Given the description of an element on the screen output the (x, y) to click on. 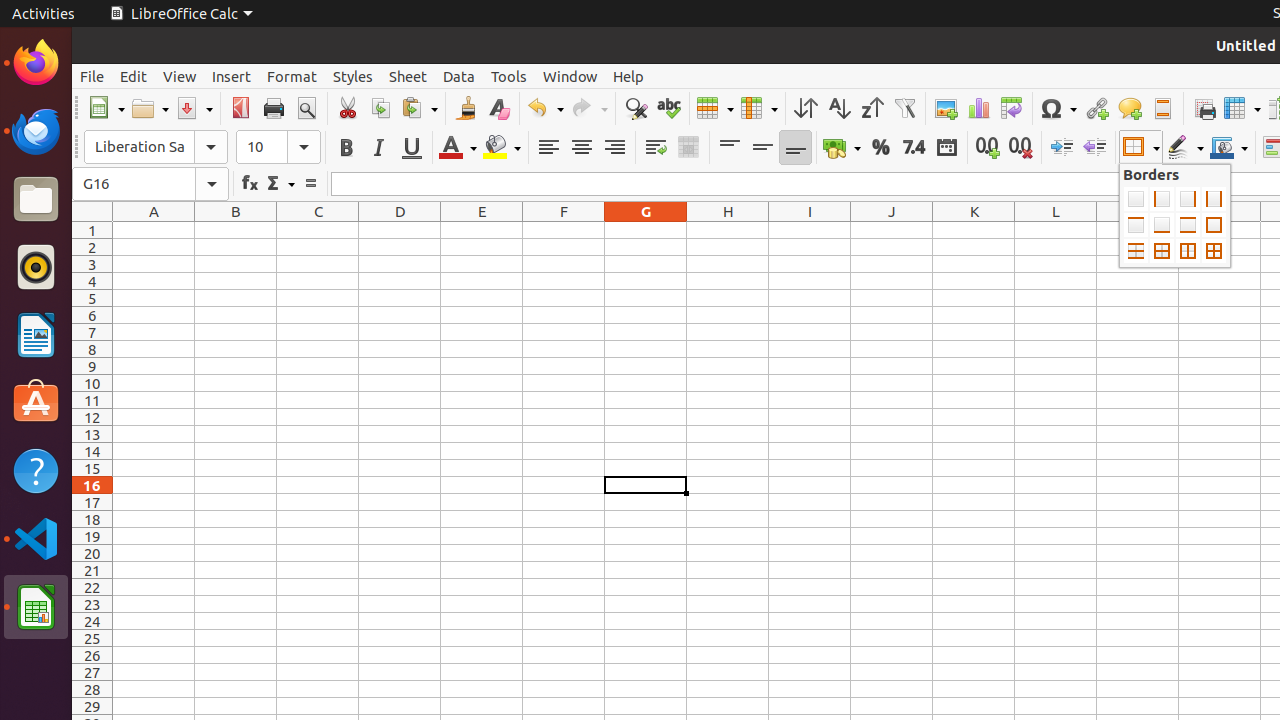
Data Element type: menu (459, 76)
Cut Element type: push-button (347, 108)
Sheet Element type: menu (408, 76)
Font Color Element type: push-button (458, 147)
K1 Element type: table-cell (974, 230)
